Given the description of an element on the screen output the (x, y) to click on. 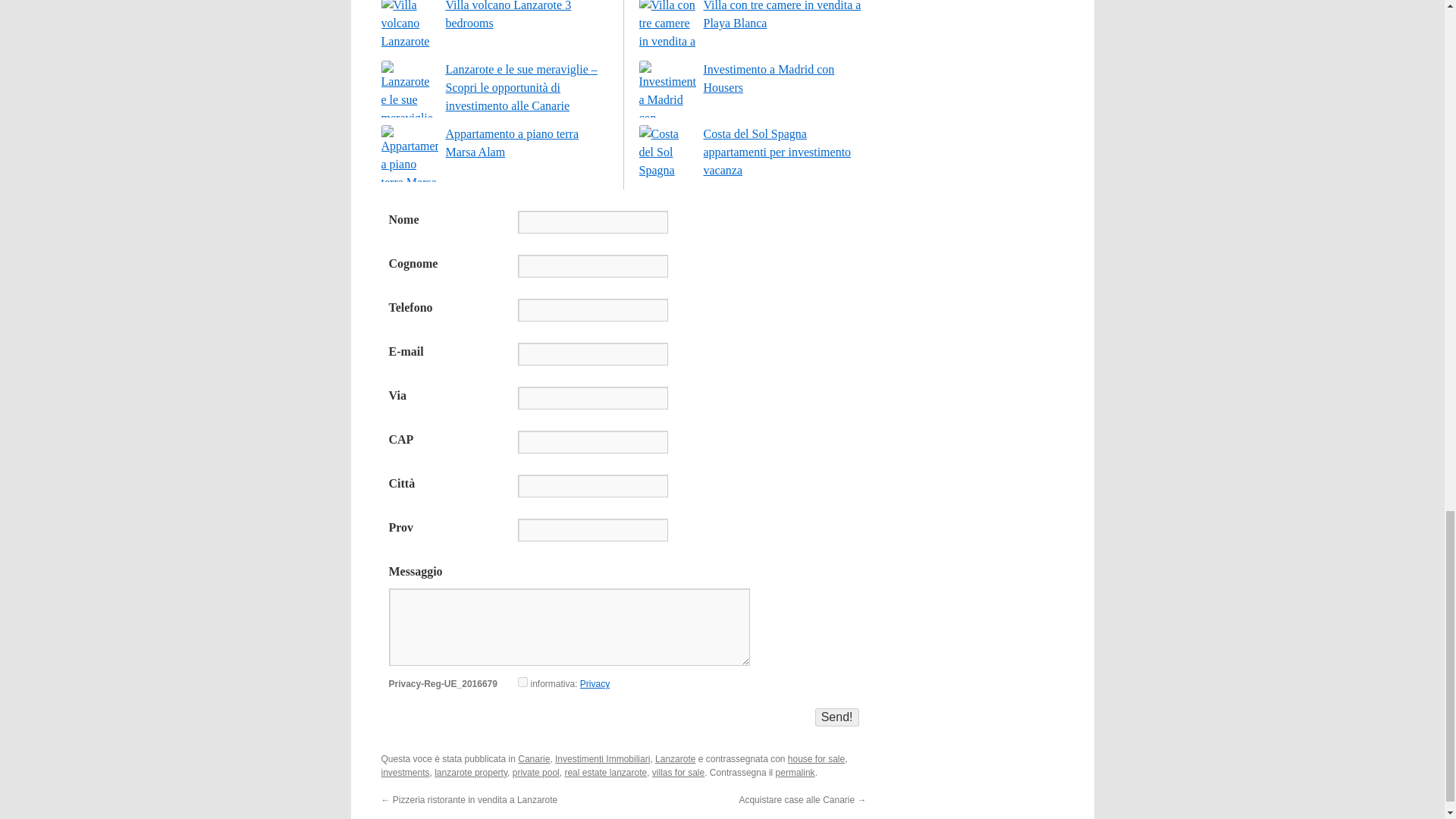
Campo obbligatorio (623, 276)
Campo obbligatorio (623, 320)
Send! (837, 717)
Campo obbligatorio (623, 540)
Campo obbligatorio (623, 452)
Campo obbligatorio (623, 232)
Campo obbligatorio (623, 496)
Devi inserire un (623, 364)
Campo obbligatorio (623, 408)
